Given the description of an element on the screen output the (x, y) to click on. 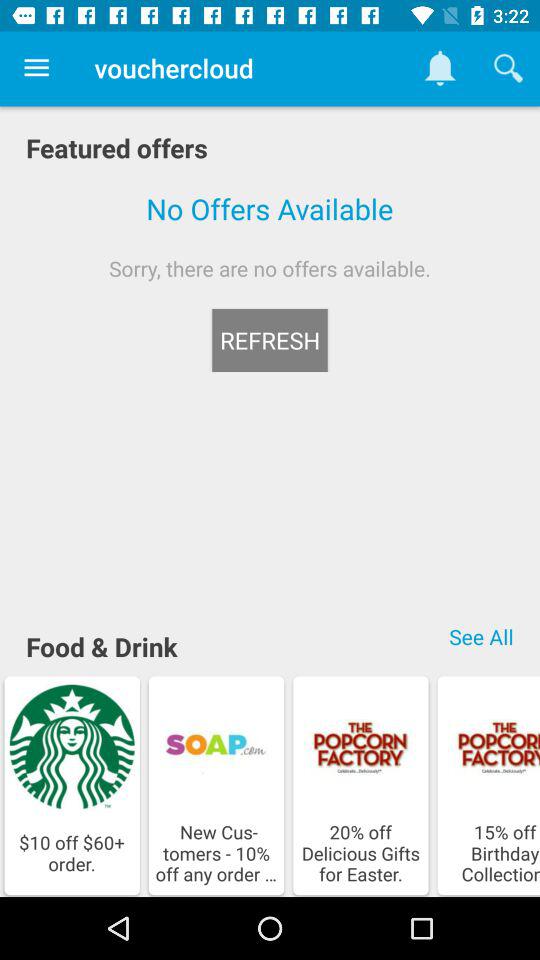
choose refresh icon (269, 340)
